Given the description of an element on the screen output the (x, y) to click on. 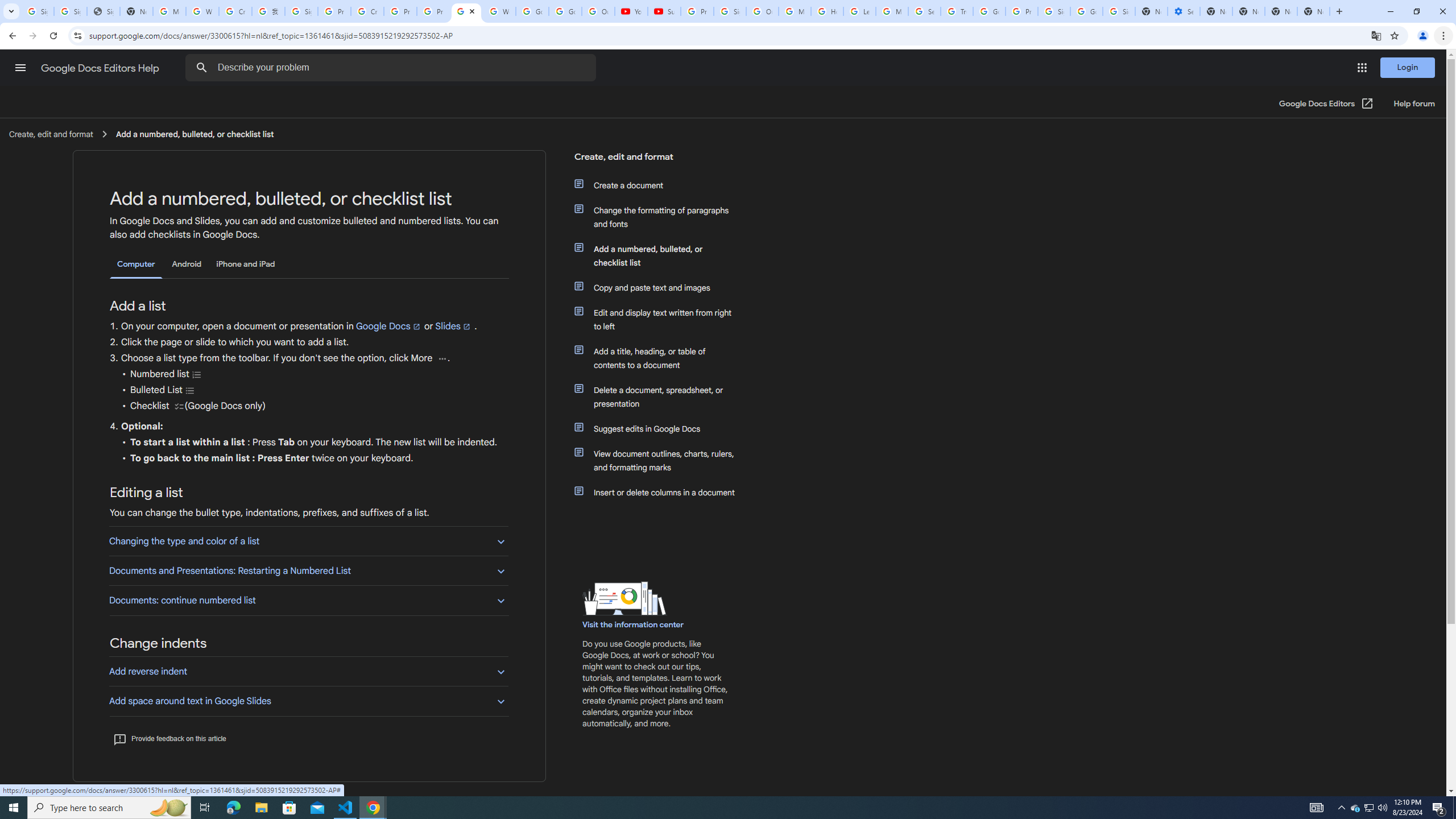
Search the Help Center (201, 67)
iPhone and iPad (245, 263)
Sign in - Google Accounts (1118, 11)
Translate this page (1376, 35)
Add space around text in Google Slides (308, 700)
Add a title, heading, or table of contents to a document (661, 358)
Google Ads - Sign in (989, 11)
Sign in - Google Accounts (301, 11)
Search our Doodle Library Collection - Google Doodles (924, 11)
